Given the description of an element on the screen output the (x, y) to click on. 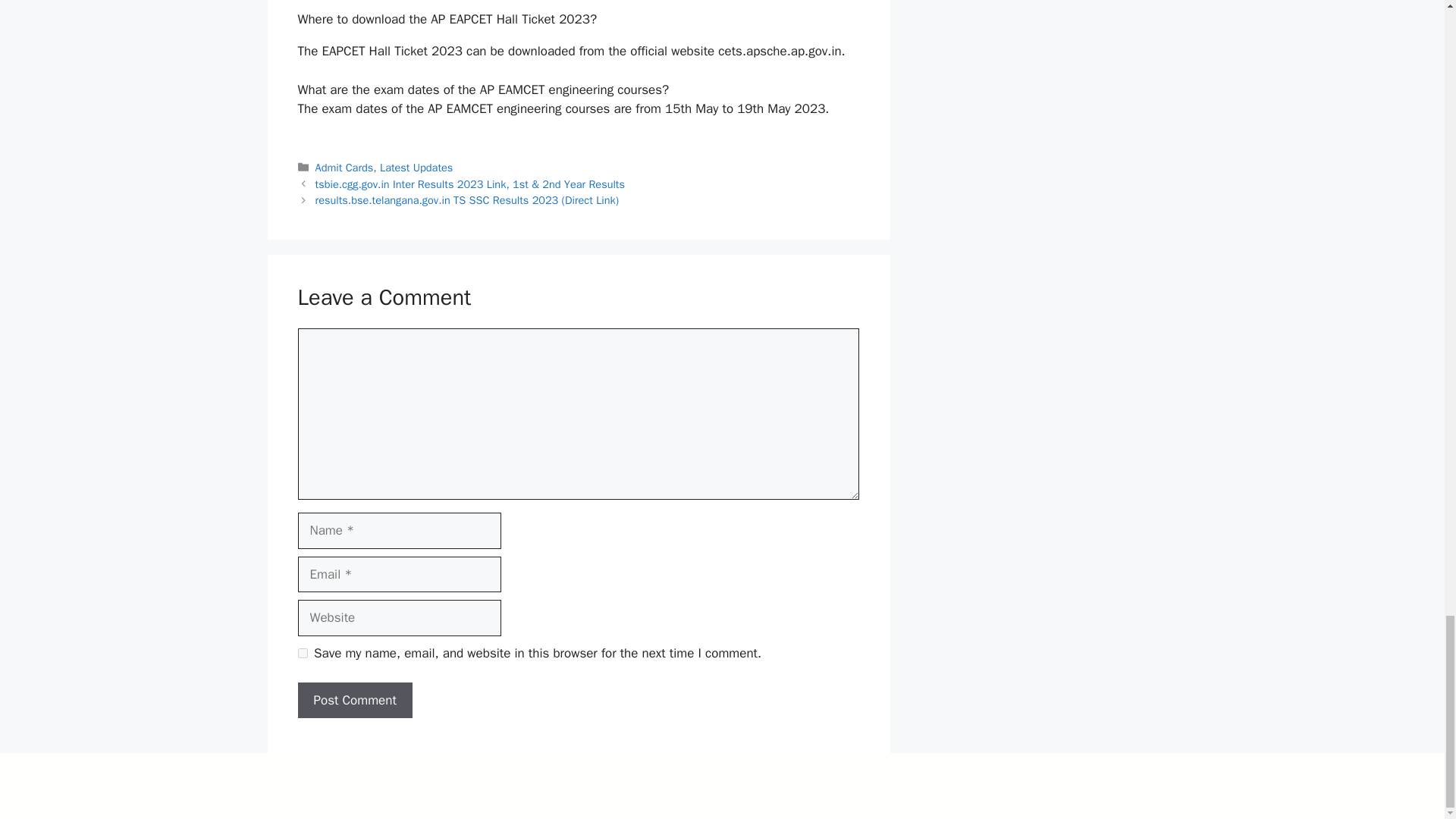
Latest Updates (416, 167)
Post Comment (354, 700)
Admit Cards (344, 167)
Post Comment (354, 700)
yes (302, 653)
